Given the description of an element on the screen output the (x, y) to click on. 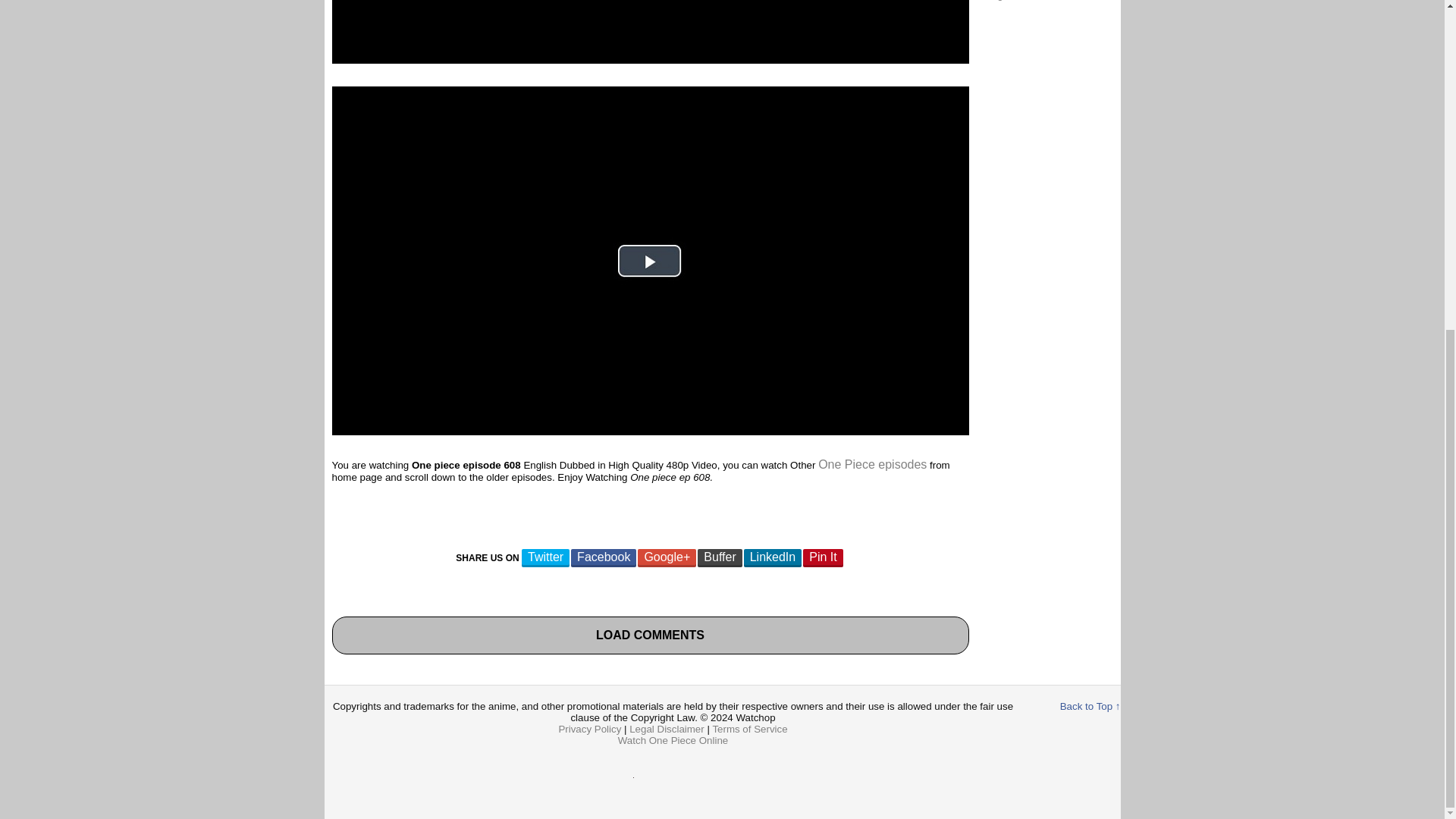
Legal Disclaimer (666, 728)
Pin It (823, 557)
Twitter (545, 557)
Terms of Service (749, 728)
One Piece episodes (872, 463)
Watch One Piece Online (672, 740)
LinkedIn (773, 557)
Facebook (603, 557)
Buffer (719, 557)
